Given the description of an element on the screen output the (x, y) to click on. 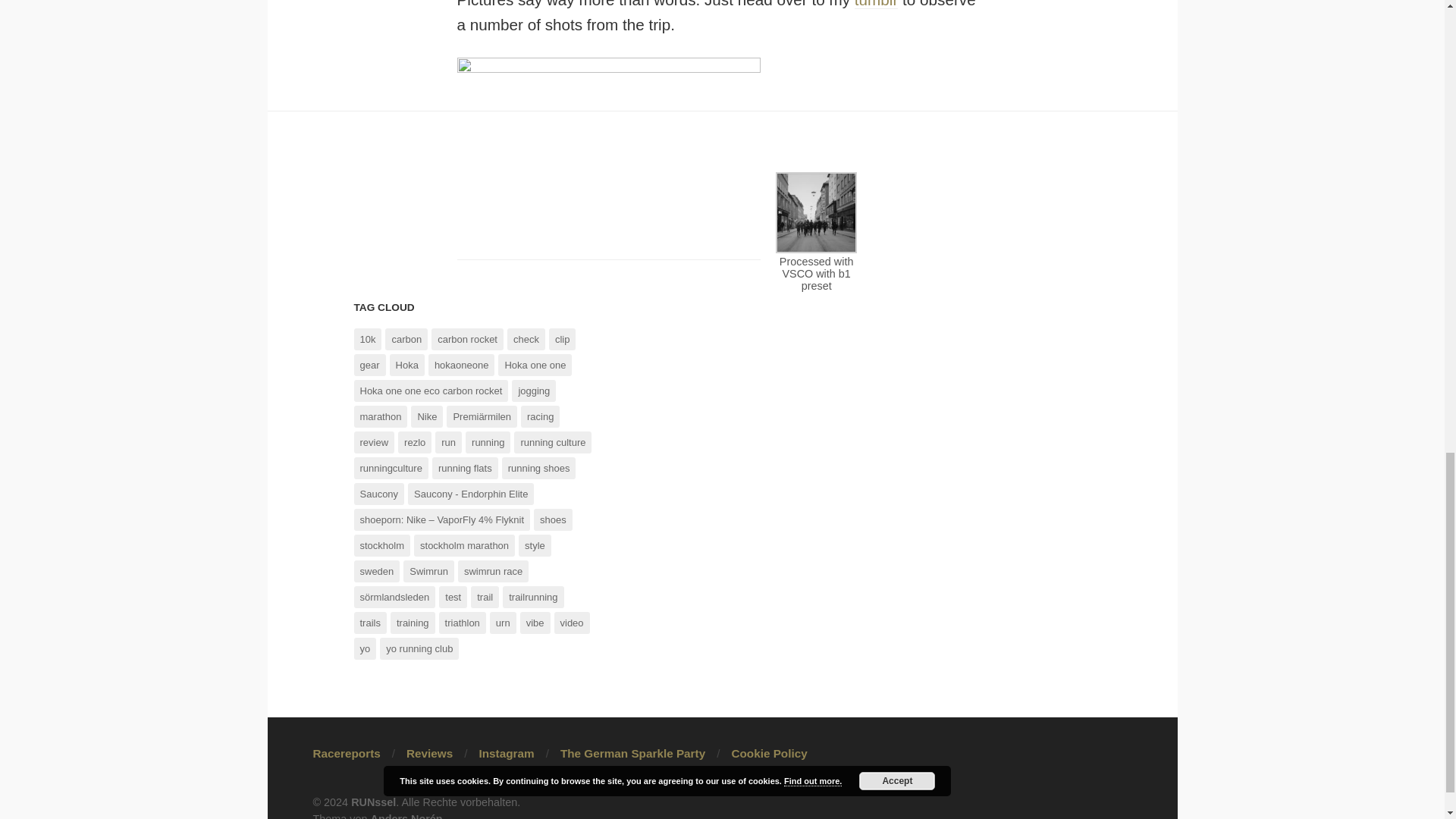
Hoka one one (534, 364)
racing (540, 416)
carbon rocket (466, 339)
Hoka (407, 364)
jogging (534, 391)
running (488, 442)
run (448, 442)
gear (369, 364)
review (373, 442)
running culture (552, 442)
carbon (406, 339)
RUNssel (373, 802)
rezlo (413, 442)
10k (367, 339)
clip (562, 339)
